Given the description of an element on the screen output the (x, y) to click on. 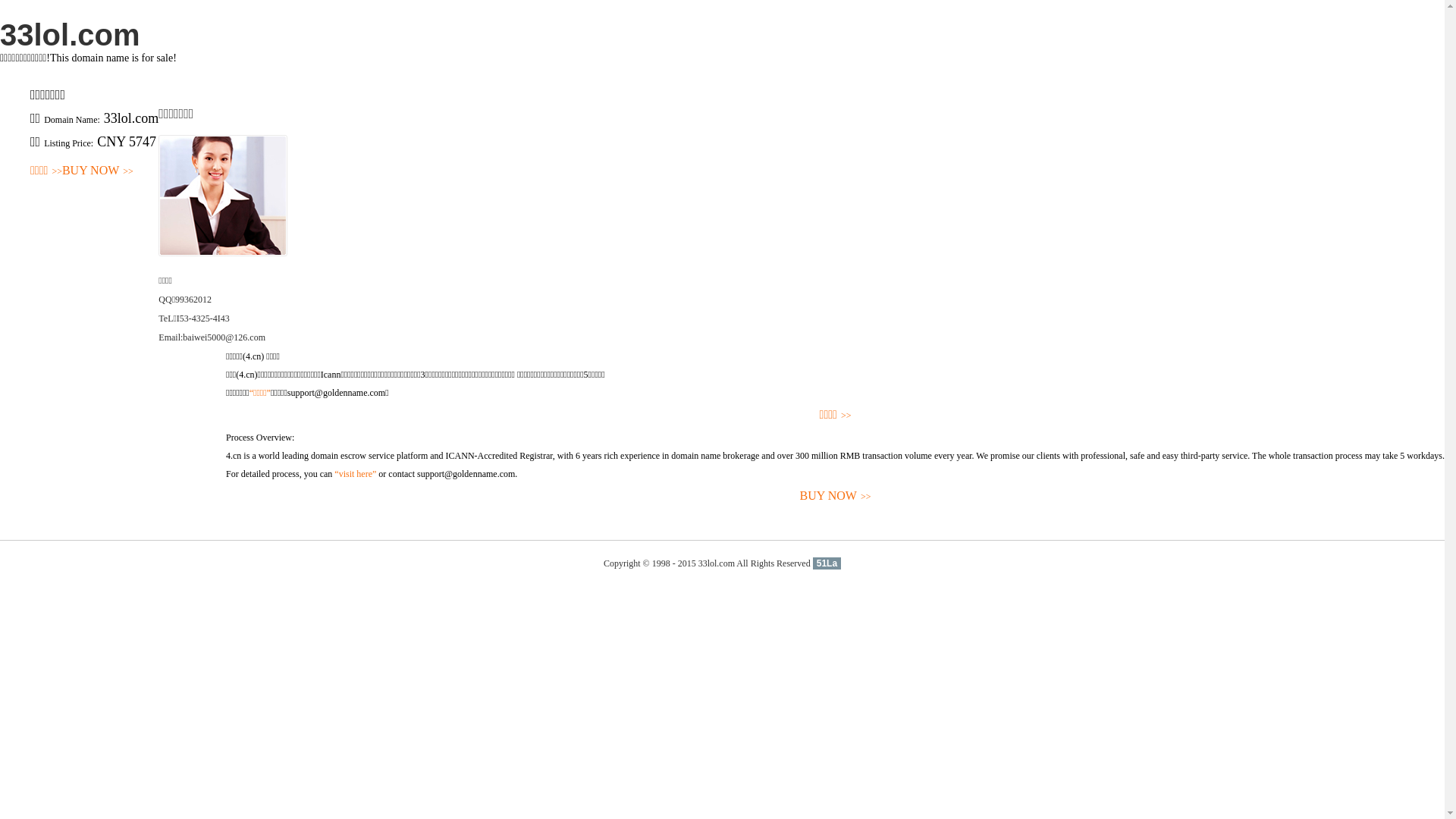
BUY NOW>> Element type: text (97, 170)
51La Element type: text (826, 563)
BUY NOW>> Element type: text (834, 496)
